Given the description of an element on the screen output the (x, y) to click on. 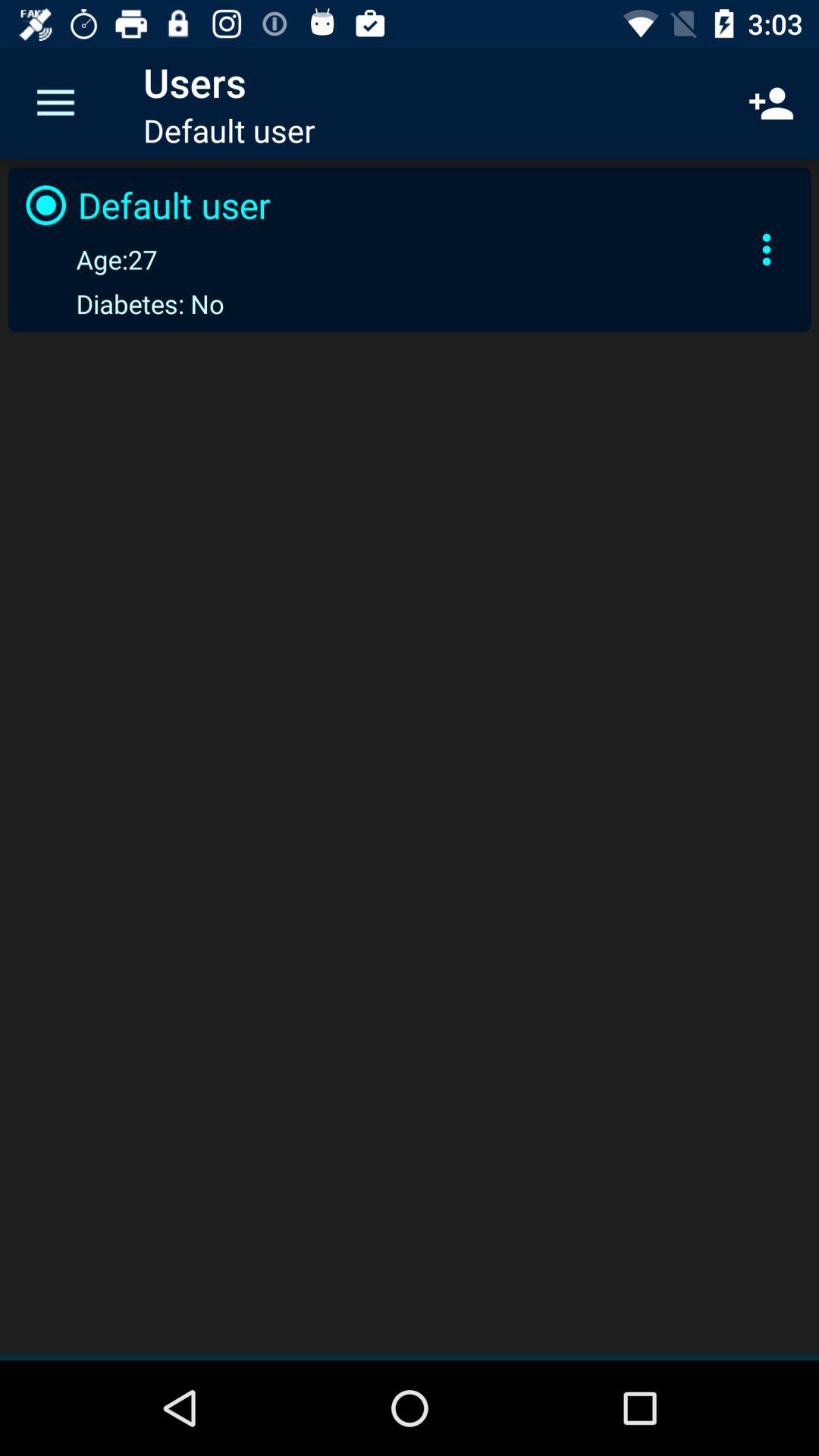
press the icon above the diabetes: no icon (87, 259)
